Given the description of an element on the screen output the (x, y) to click on. 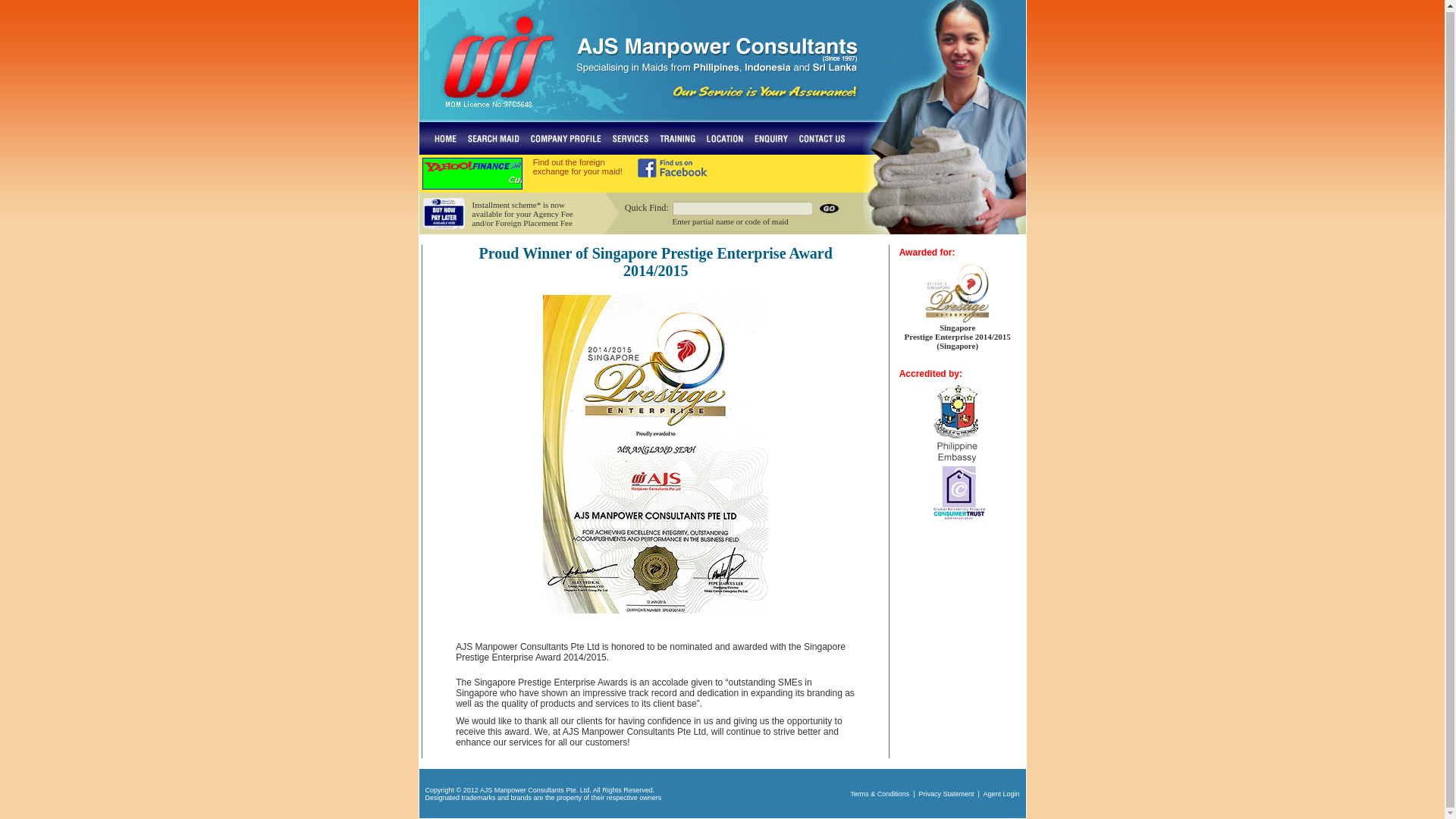
Find out the foreign exchange for your maid! (577, 167)
Agent Login (1000, 792)
Privacy Statement (946, 792)
